Given the description of an element on the screen output the (x, y) to click on. 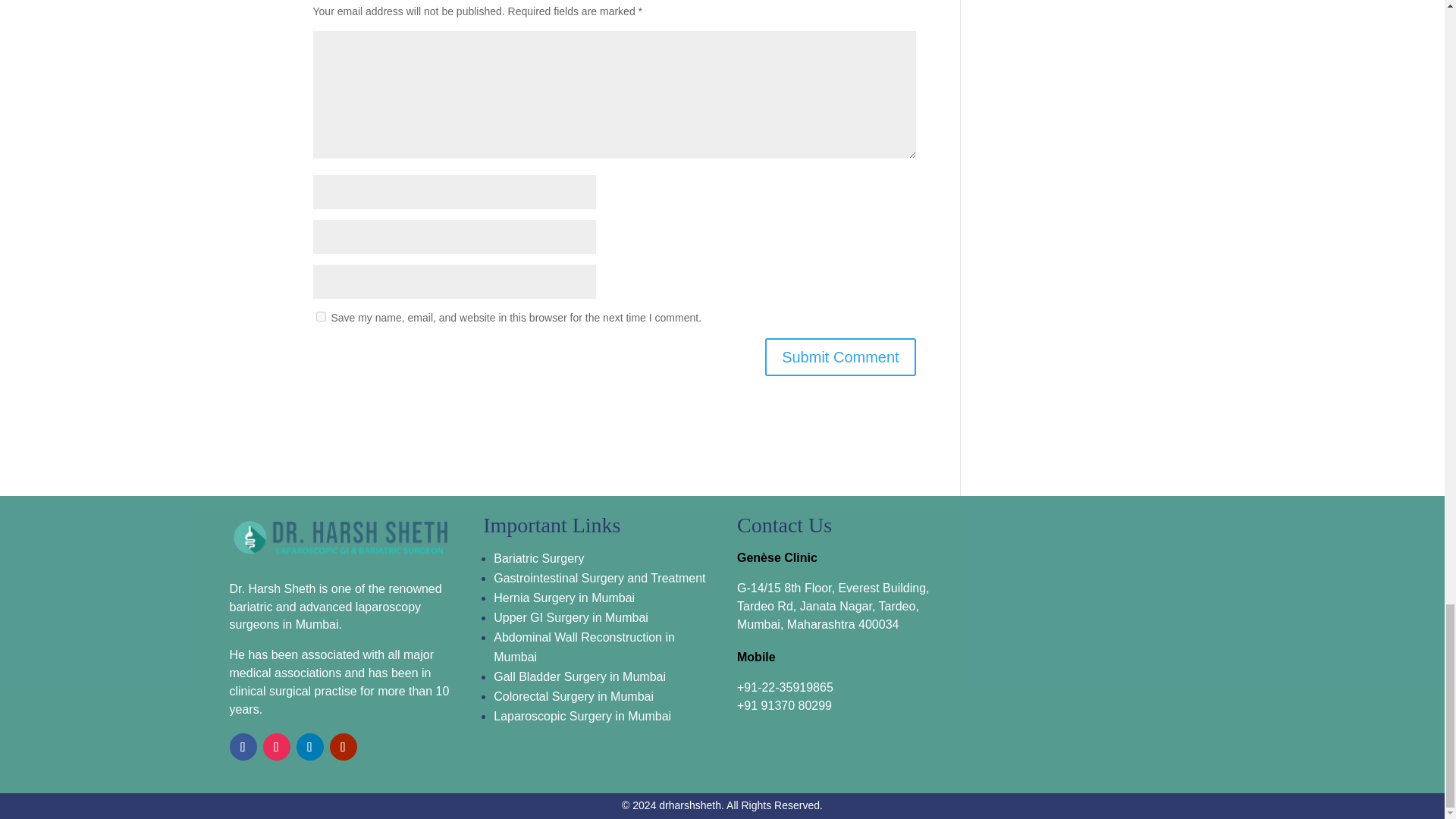
Submit Comment (840, 356)
yes (319, 316)
Follow on Instagram (275, 746)
Follow on Youtube (342, 746)
Follow on LinkedIn (309, 746)
Follow on Facebook (242, 746)
